Given the description of an element on the screen output the (x, y) to click on. 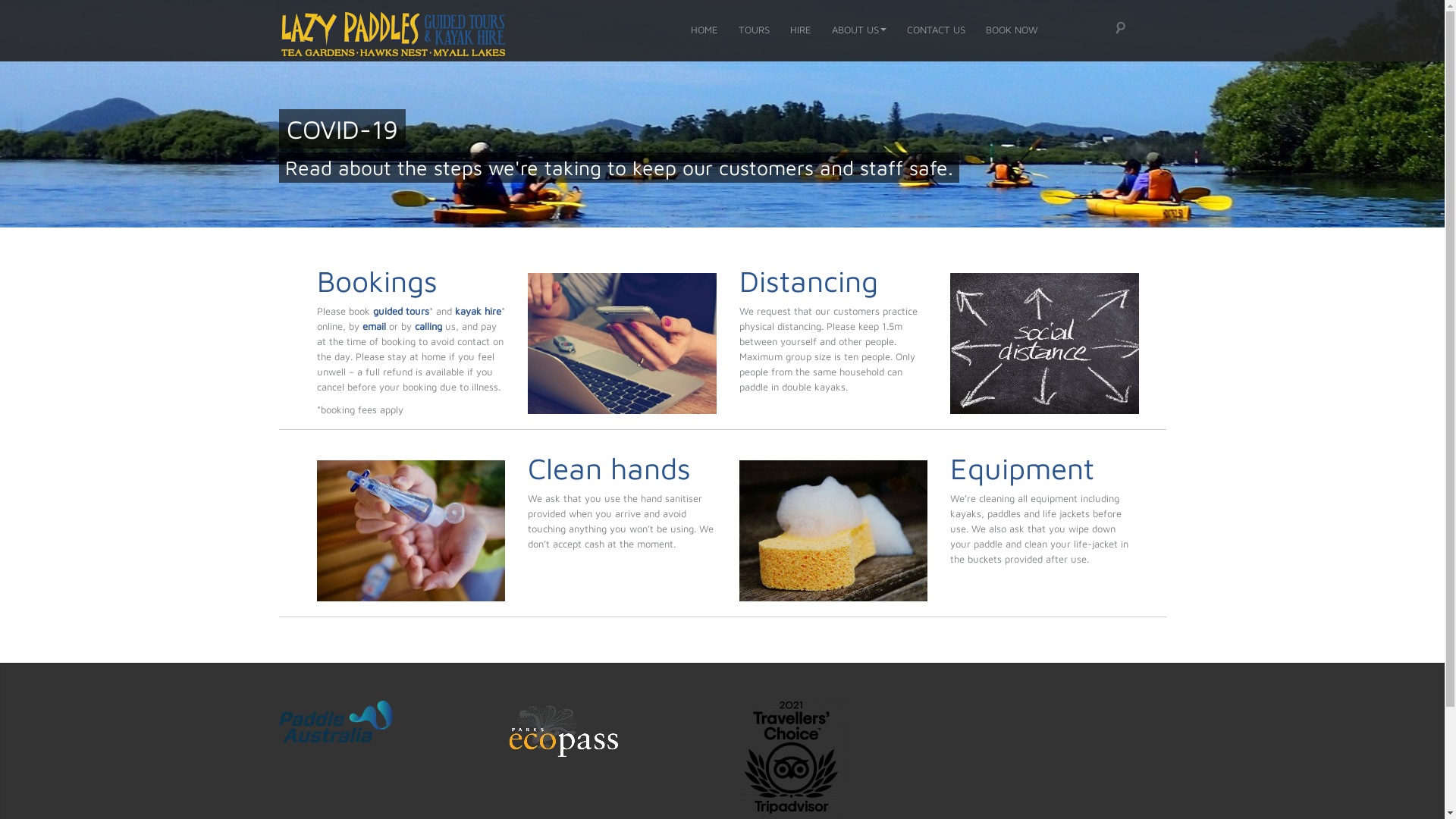
BOOK NOW Element type: text (1011, 29)
Equipment Element type: text (1022, 467)
HIRE Element type: text (800, 29)
guided tours Element type: text (401, 310)
HOME Element type: text (703, 29)
Clean hands Element type: text (608, 467)
calling Element type: text (427, 326)
TOURS Element type: text (753, 29)
ABOUT US Element type: text (858, 29)
kayak hire Element type: text (478, 310)
CONTACT US Element type: text (935, 29)
email Element type: text (373, 326)
